Given the description of an element on the screen output the (x, y) to click on. 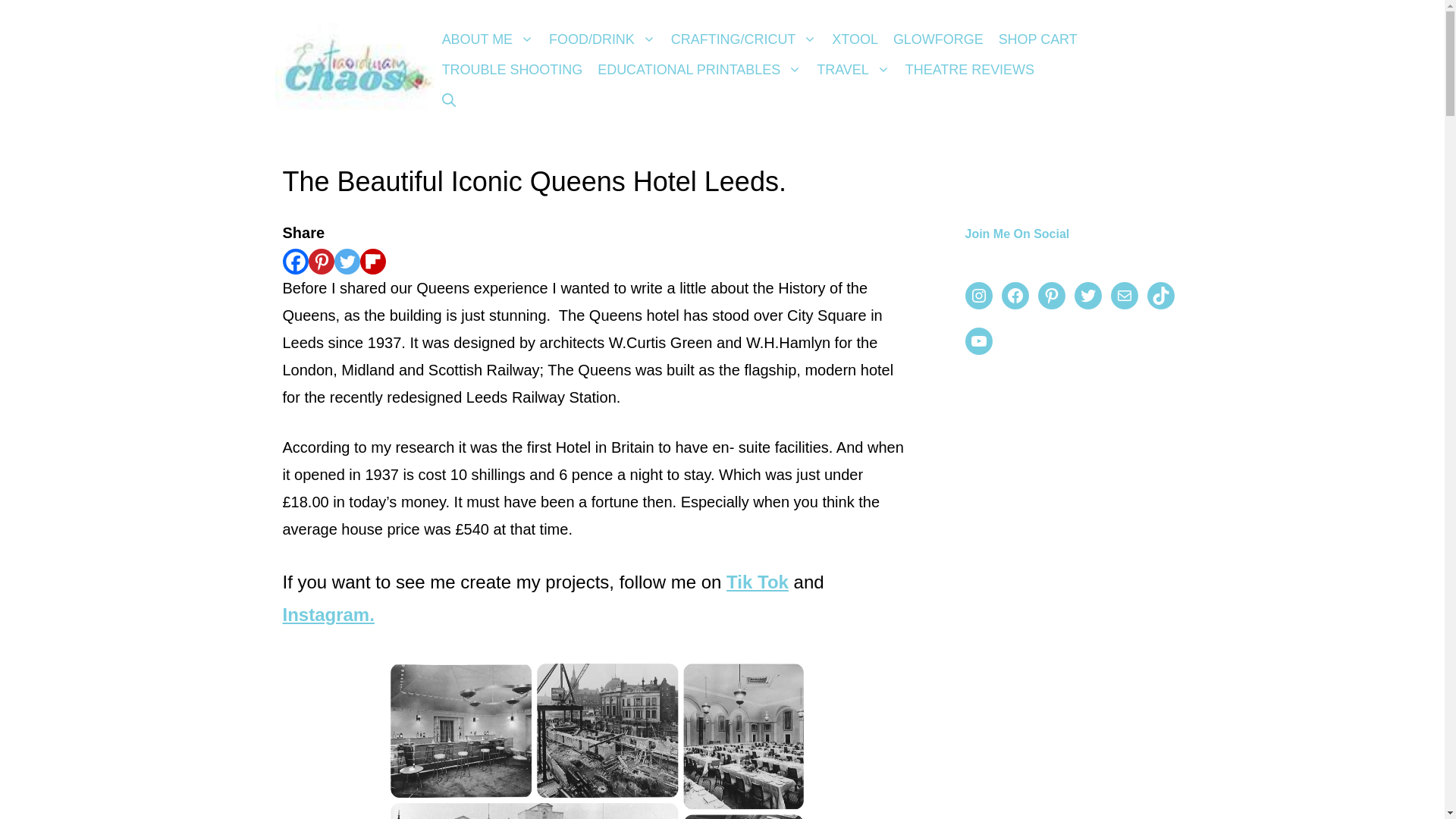
Facebook (294, 261)
ABOUT ME (487, 39)
Pinterest (320, 261)
